Given the description of an element on the screen output the (x, y) to click on. 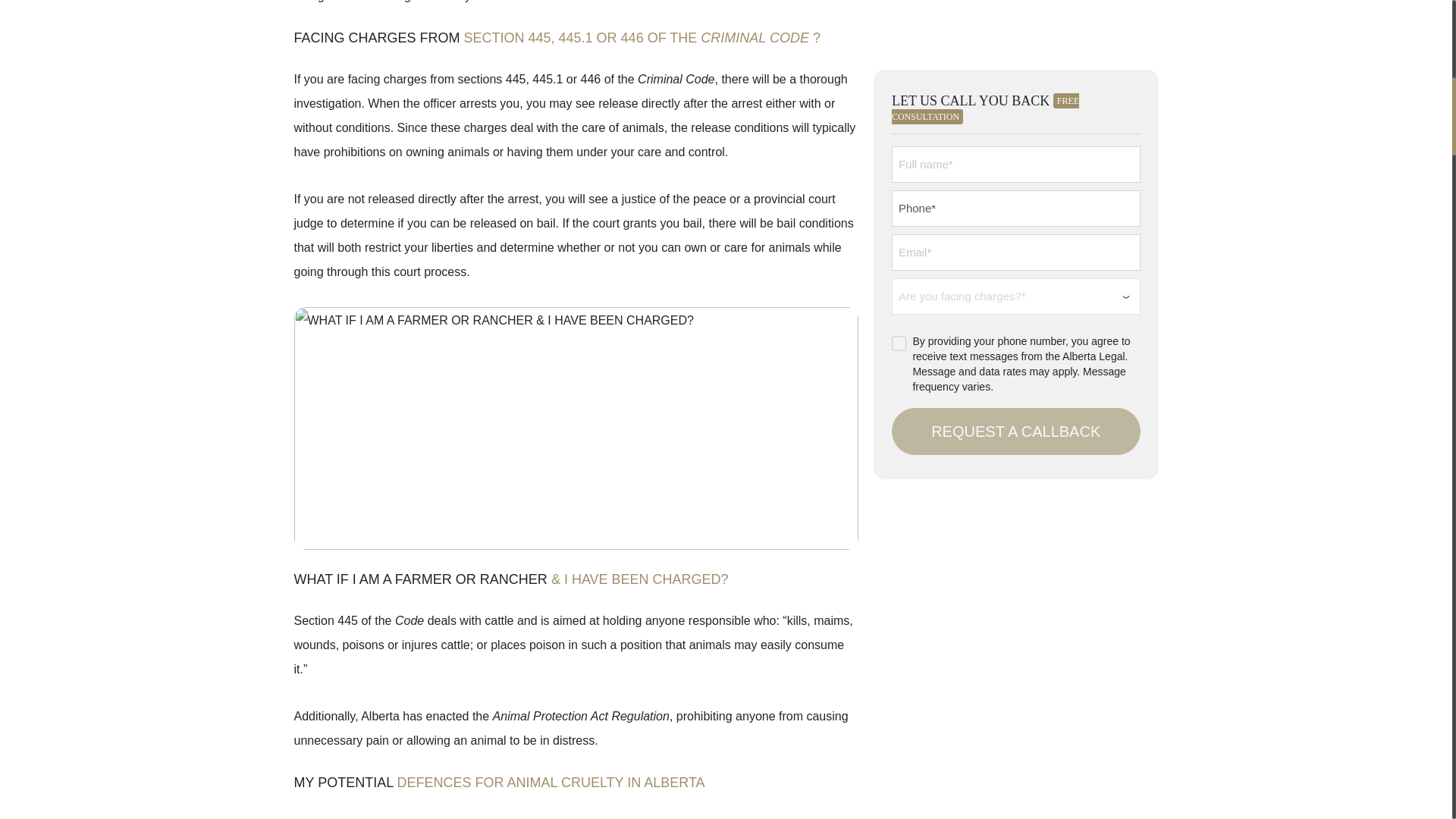
Request A Callback (1015, 66)
